Given the description of an element on the screen output the (x, y) to click on. 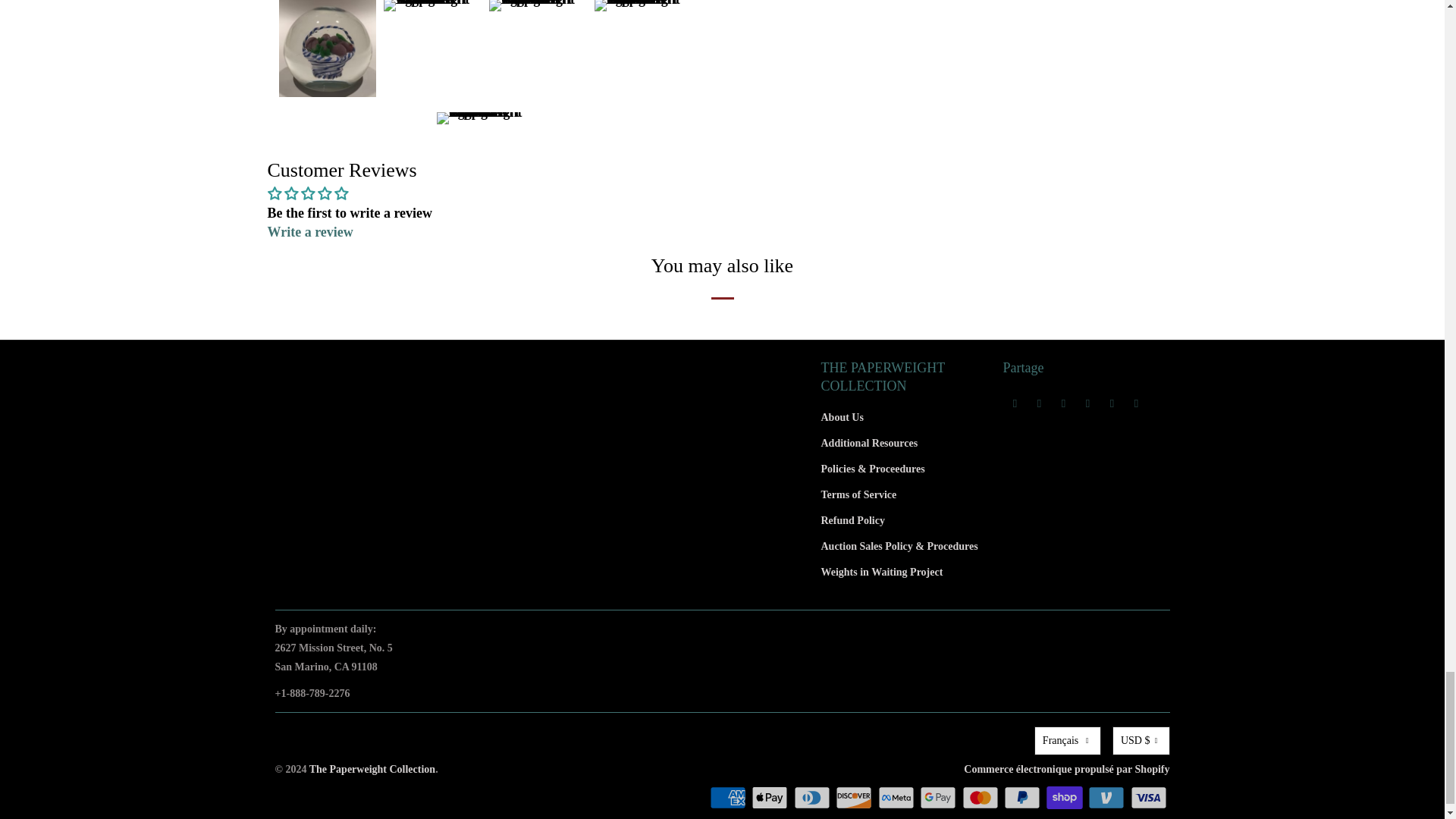
Google Pay (939, 797)
Discover (855, 797)
Visa (1149, 797)
Venmo (1106, 797)
American Express (729, 797)
Apple Pay (770, 797)
Shop Pay (1066, 797)
Diners Club (812, 797)
Mastercard (980, 797)
PayPal (1023, 797)
Meta Pay (897, 797)
